Given the description of an element on the screen output the (x, y) to click on. 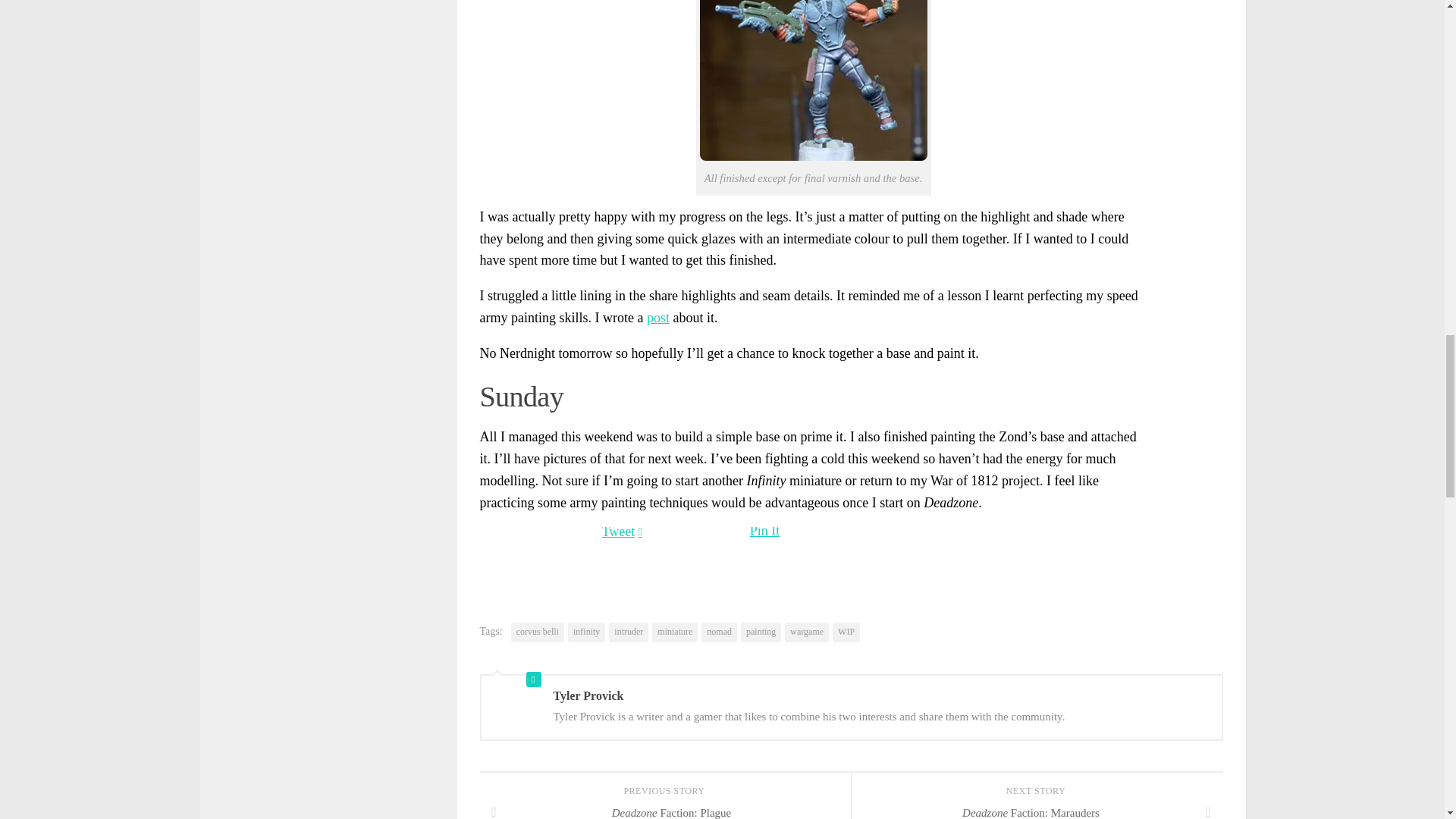
The Fine Art of Brush Control (657, 317)
